Given the description of an element on the screen output the (x, y) to click on. 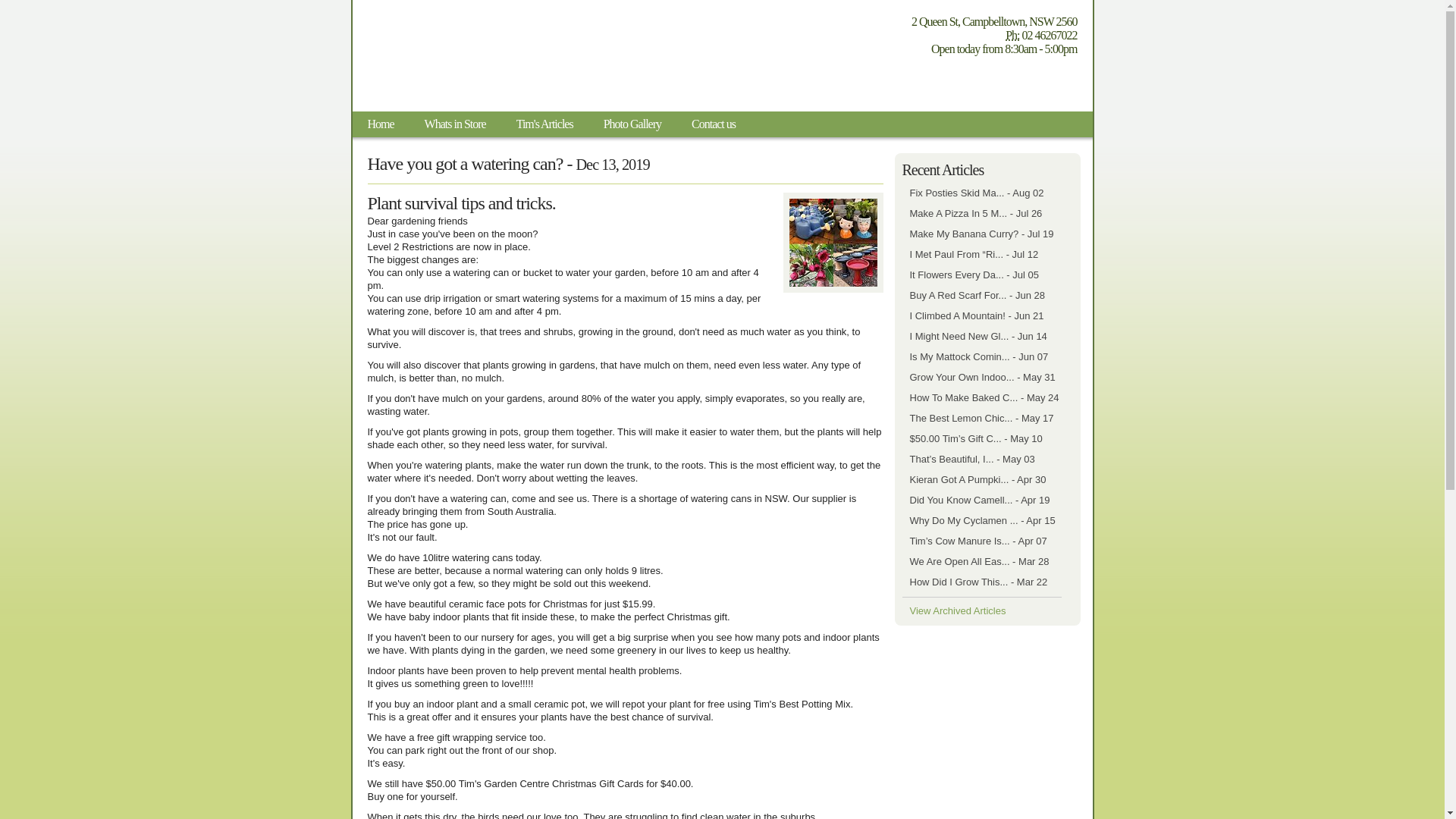
Follow us on Instagram (981, 82)
I Might Need New Gl... - Jun 14 (978, 336)
Buy A Red Scarf For... - Jun 28 (977, 295)
Is My Mattock Coming Back? (979, 356)
Tim's Articles (544, 124)
How To Make Baked C... - May 24 (984, 397)
How To Make Baked Chicken Soup? (984, 397)
Make My Banana Curry? - Jul 19 (982, 233)
Make A Pizza In 5 M... - Jul 26 (976, 213)
Contact us (714, 124)
